Given the description of an element on the screen output the (x, y) to click on. 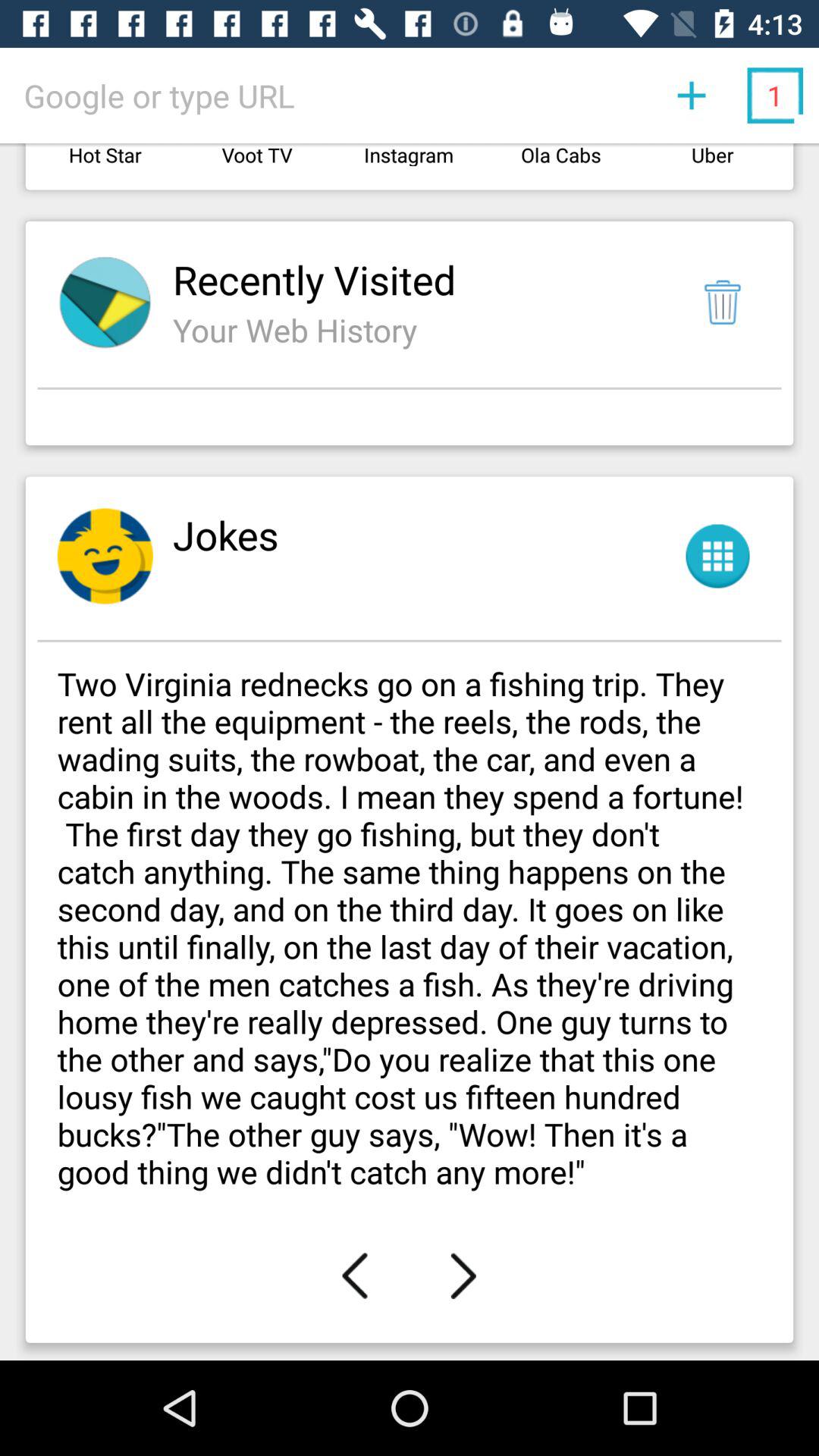
turn on item below two virginia rednecks (463, 1275)
